Given the description of an element on the screen output the (x, y) to click on. 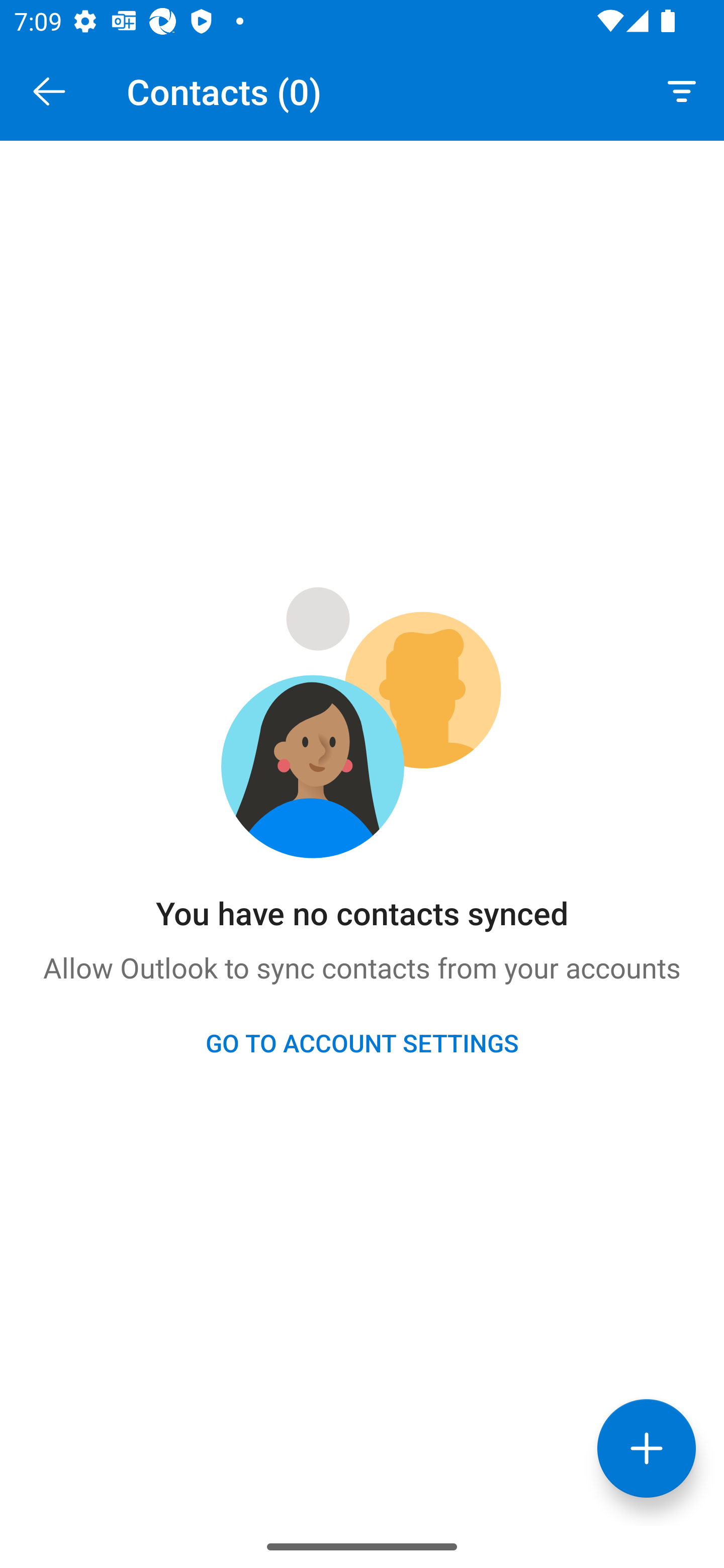
Navigate up (49, 91)
Filter (681, 90)
GO TO ACCOUNT SETTINGS (361, 1042)
Add new contact (646, 1447)
